Given the description of an element on the screen output the (x, y) to click on. 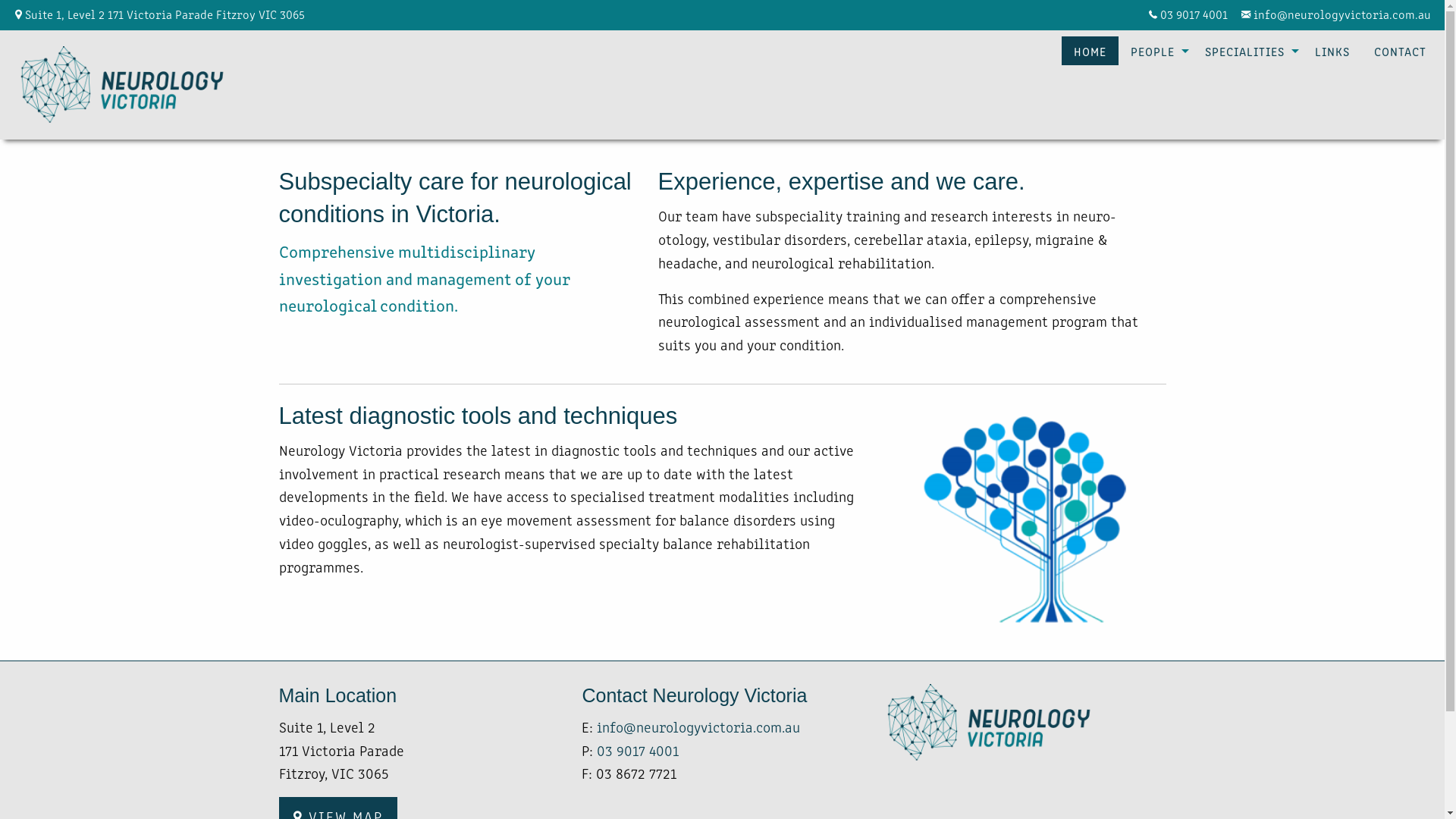
03 9017 4001 Element type: text (1194, 14)
HOME Element type: text (1089, 50)
CONTACT Element type: text (1399, 50)
PEOPLE Element type: text (1155, 50)
SPECIALITIES Element type: text (1247, 50)
info@neurologyvictoria.com.au Element type: text (1342, 14)
info@neurologyvictoria.com.au Element type: text (698, 726)
LINKS Element type: text (1331, 50)
03 9017 4001 Element type: text (637, 749)
